Given the description of an element on the screen output the (x, y) to click on. 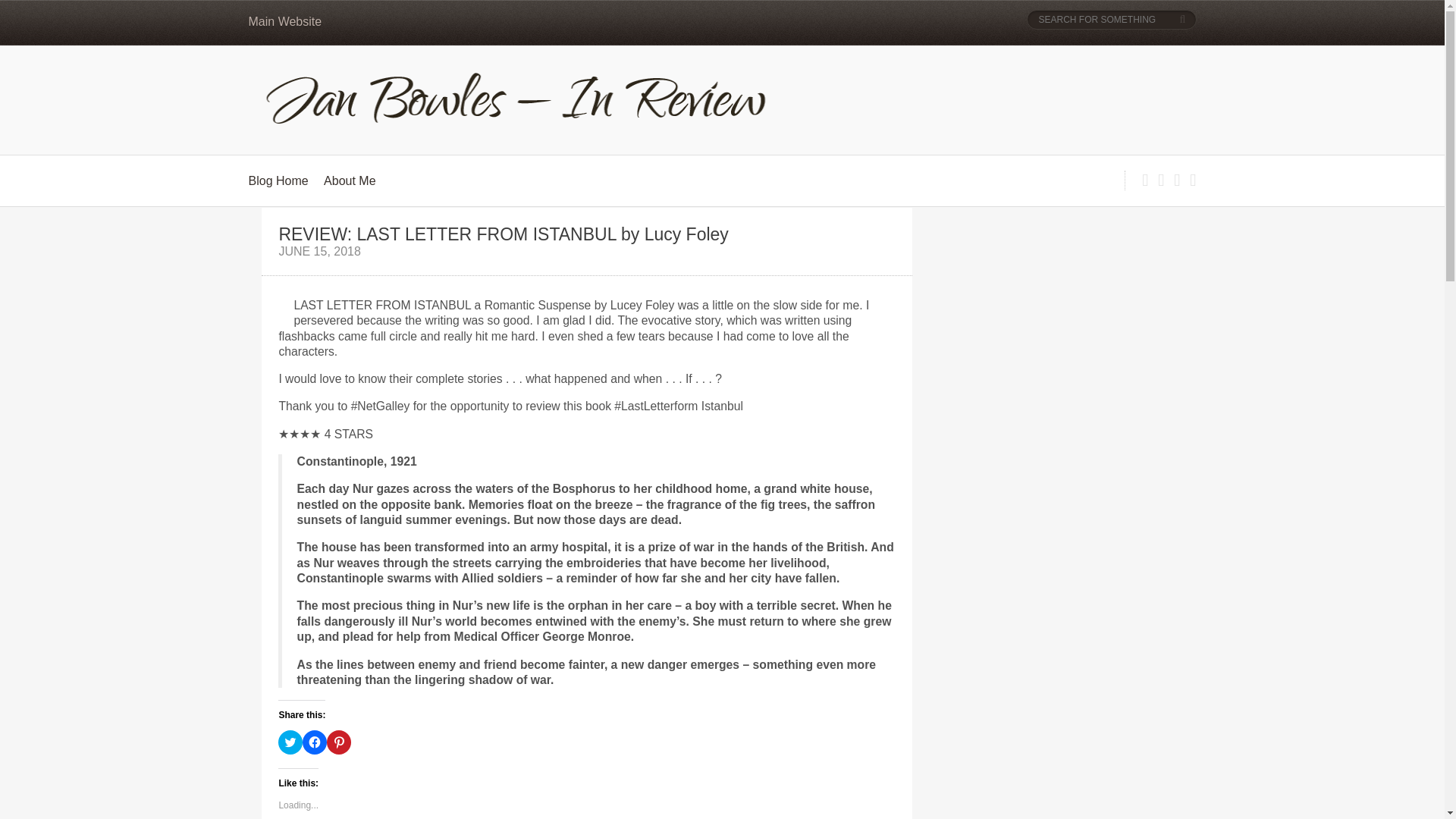
Click to share on Facebook (314, 742)
Click to share on Twitter (290, 742)
Click to share on Pinterest (338, 742)
Main Website (284, 21)
About Me (349, 180)
Blog Home (278, 180)
